Given the description of an element on the screen output the (x, y) to click on. 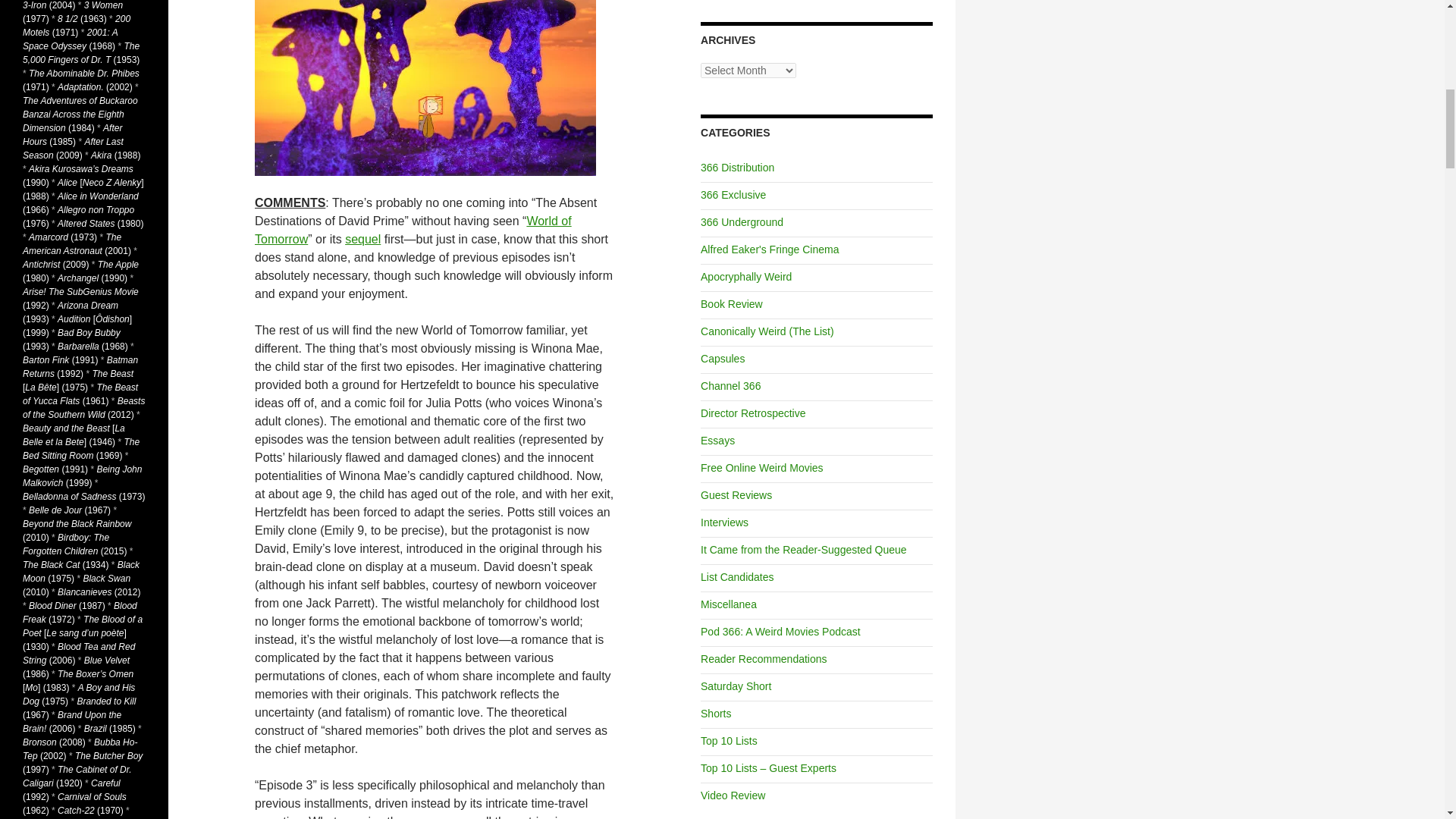
World of Tomorrow (413, 229)
sequel (362, 238)
